Given the description of an element on the screen output the (x, y) to click on. 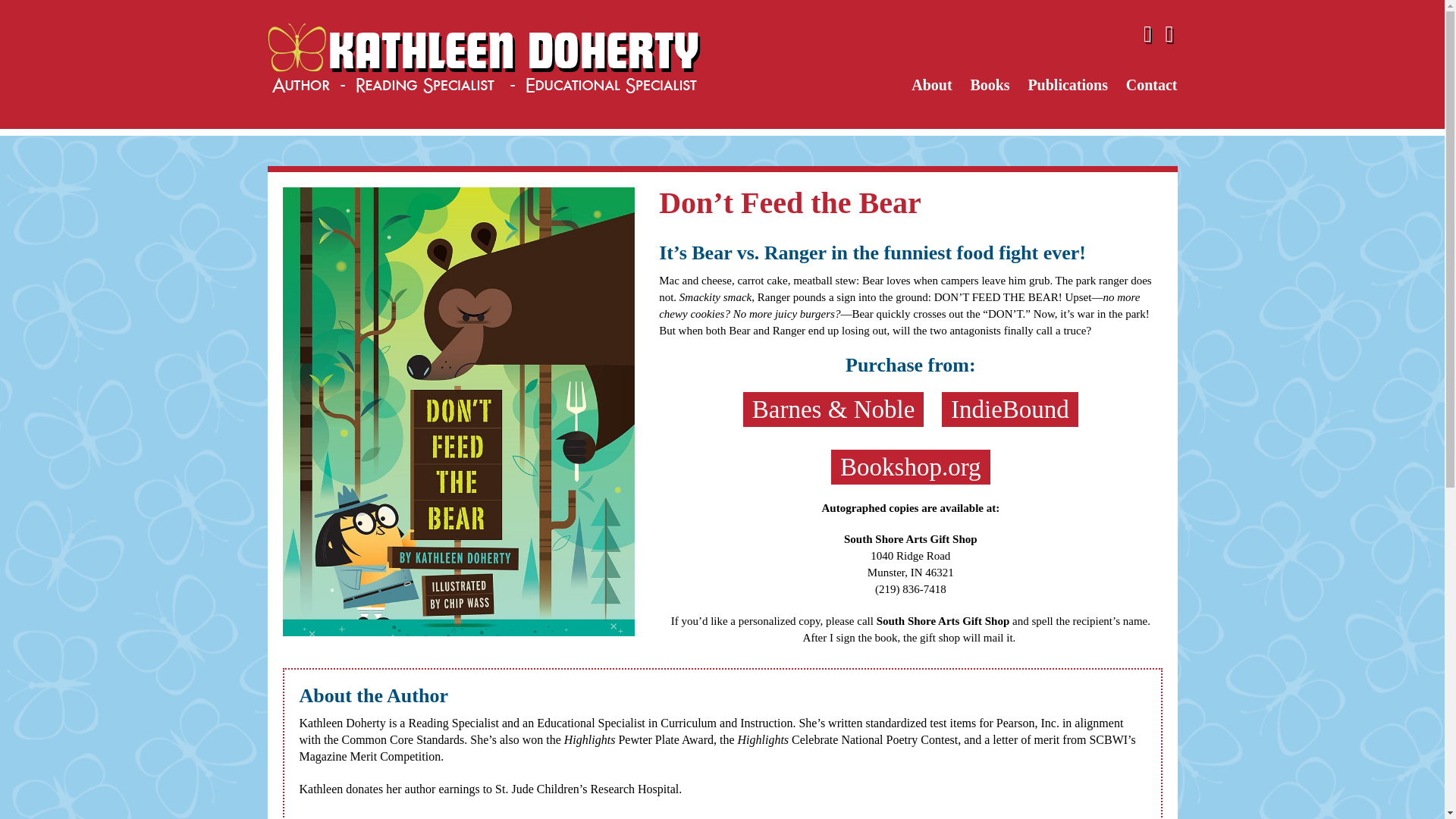
Bookshop.org (910, 466)
Publications (1067, 84)
Books (989, 84)
Contact (1147, 84)
About (931, 84)
IndieBound (1010, 408)
